Given the description of an element on the screen output the (x, y) to click on. 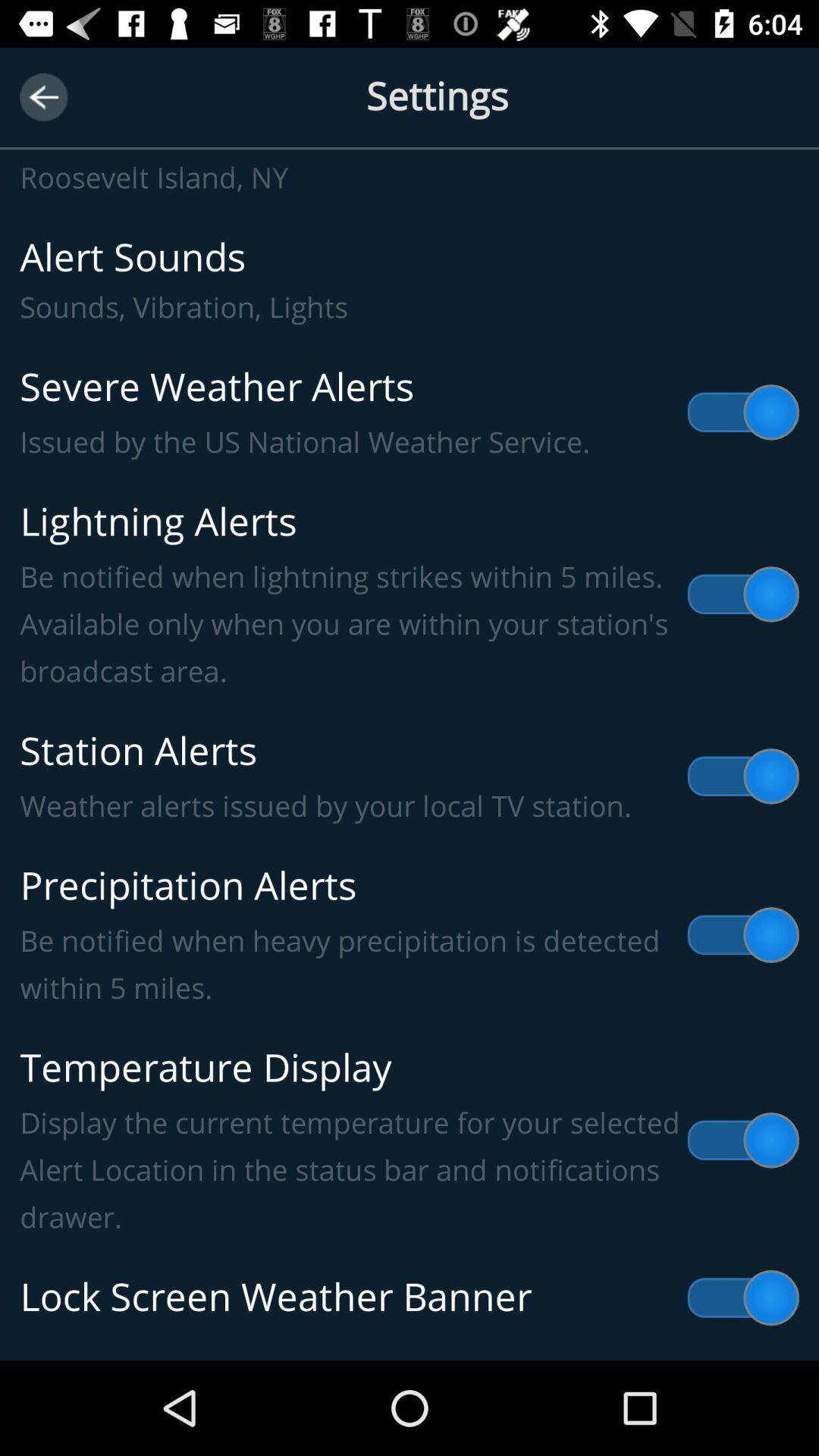
select lock screen weather item (409, 1297)
